Given the description of an element on the screen output the (x, y) to click on. 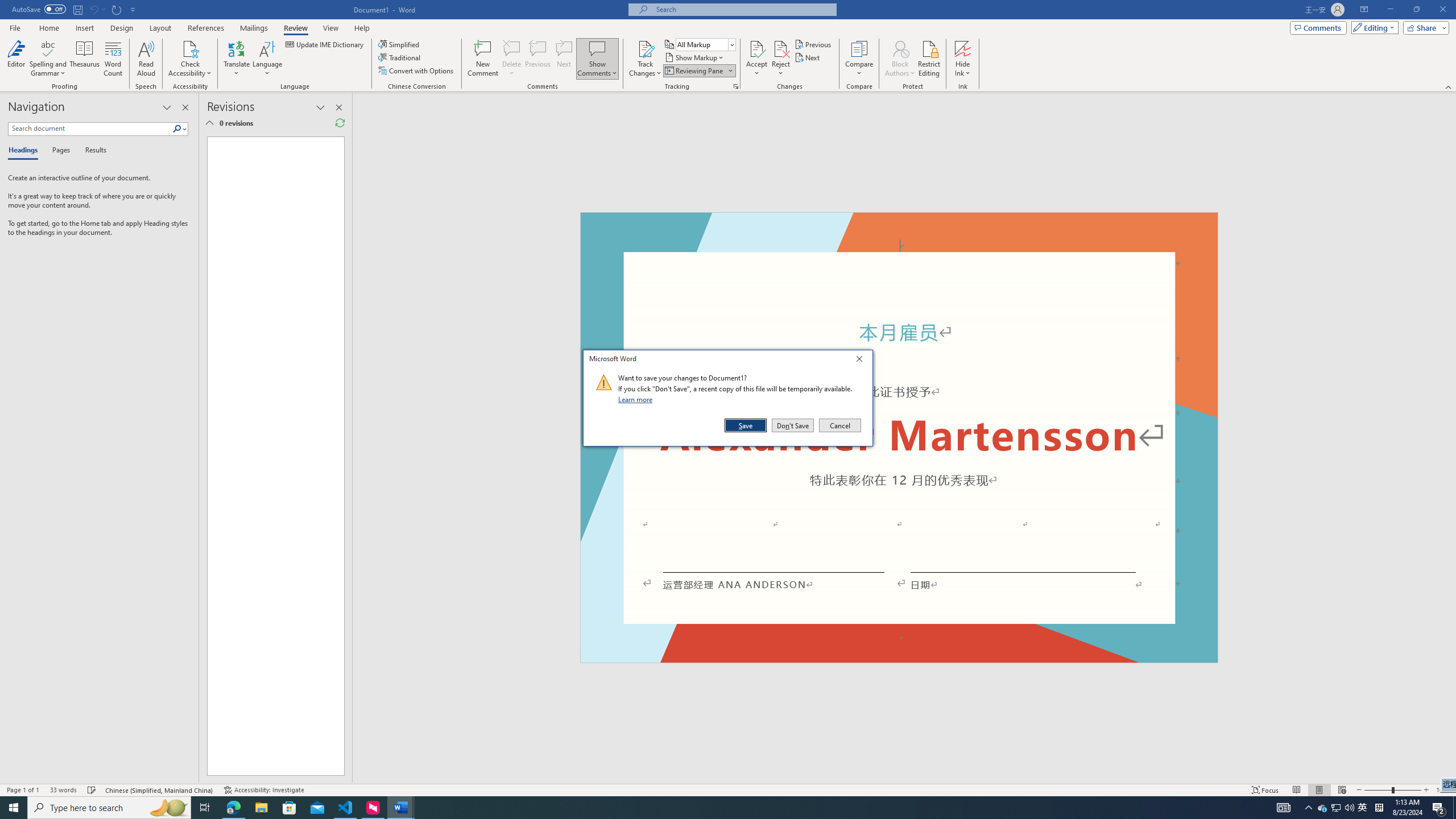
Close (862, 360)
Class: NetUIImage (603, 382)
Page Number Page 1 of 1 (22, 790)
Header -Section 1- (898, 225)
System (6, 6)
Open (731, 44)
Block Authors (900, 58)
File Explorer (261, 807)
Microsoft Edge - 1 running window (233, 807)
Share (1423, 27)
Class: MsoCommandBar (728, 789)
Can't Undo (92, 9)
Block Authors (900, 48)
Don't Save (792, 425)
Accept and Move to Next (756, 48)
